Given the description of an element on the screen output the (x, y) to click on. 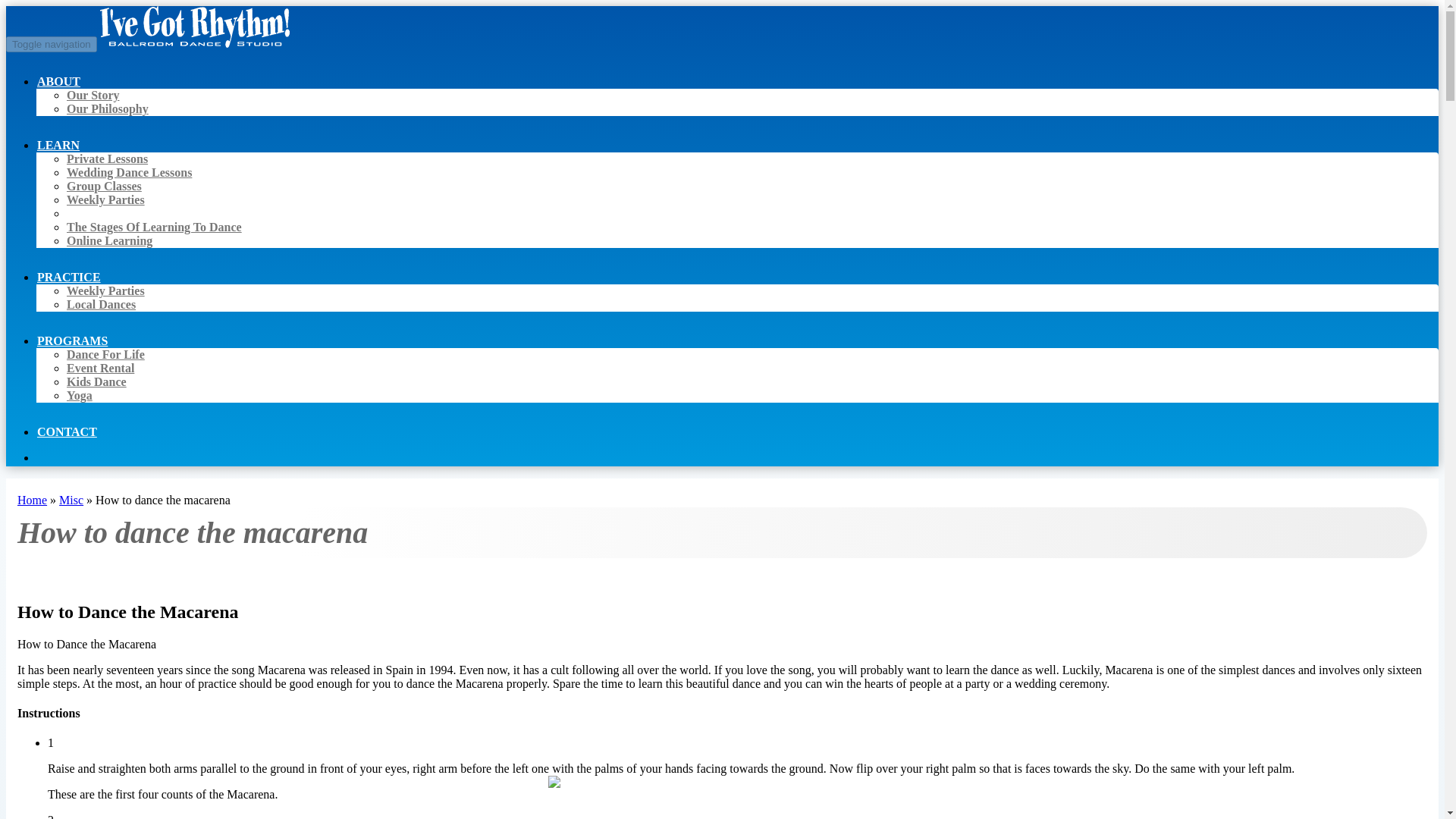
Wedding Dance Lessons (129, 172)
Weekly Parties (105, 199)
LEARN (58, 145)
CONTACT (66, 431)
PRACTICE (68, 277)
PROGRAMS (71, 340)
Toggle navigation (51, 44)
The Stages Of Learning To Dance (153, 226)
Group Classes (103, 185)
Local Dances (100, 304)
Misc (70, 499)
Our Story (92, 94)
Event Rental (99, 367)
Misc (70, 499)
Yoga (79, 395)
